Given the description of an element on the screen output the (x, y) to click on. 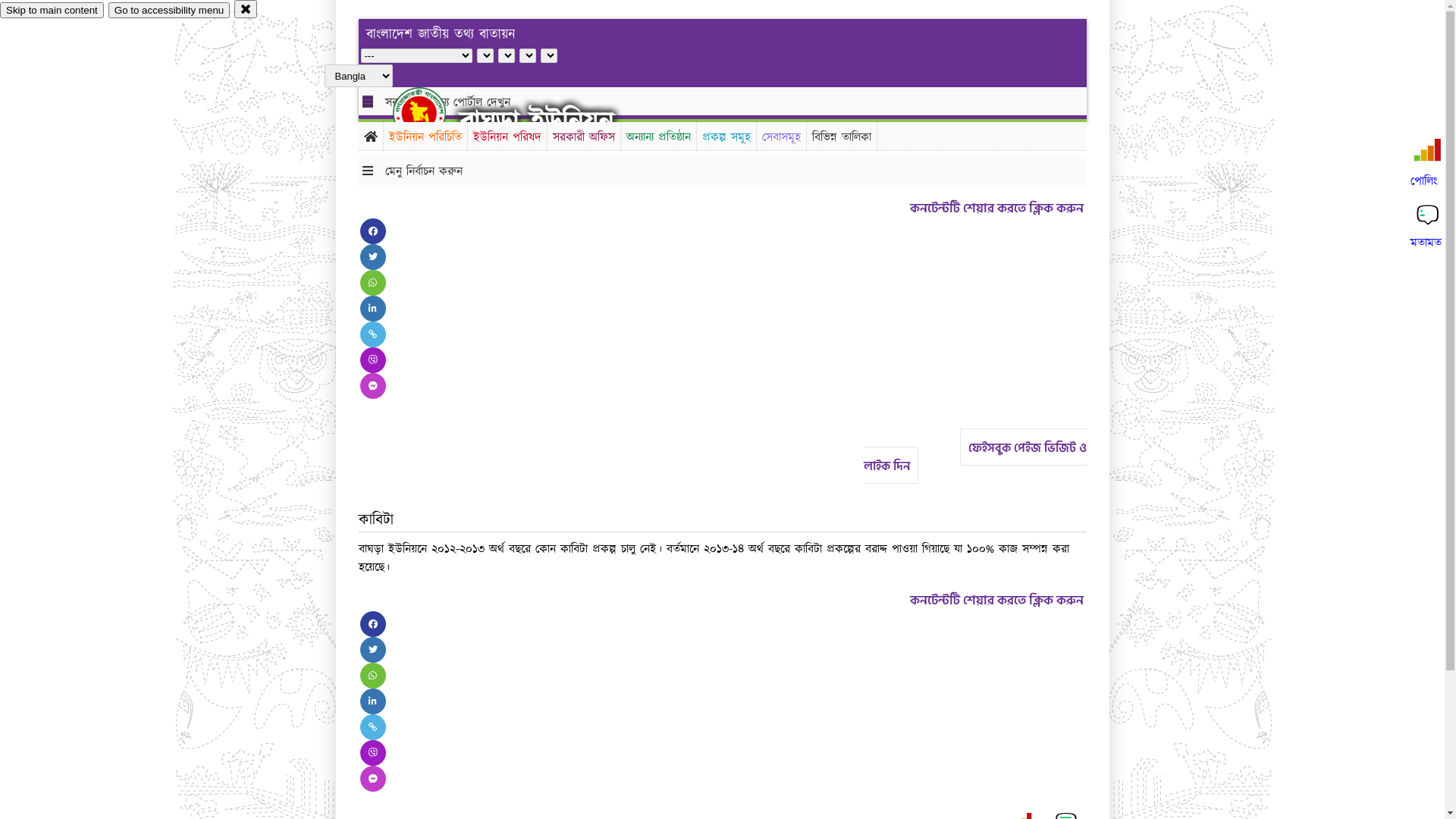
close Element type: hover (245, 9)
Skip to main content Element type: text (51, 10)
Go to accessibility menu Element type: text (168, 10)

                
             Element type: hover (431, 112)
